Given the description of an element on the screen output the (x, y) to click on. 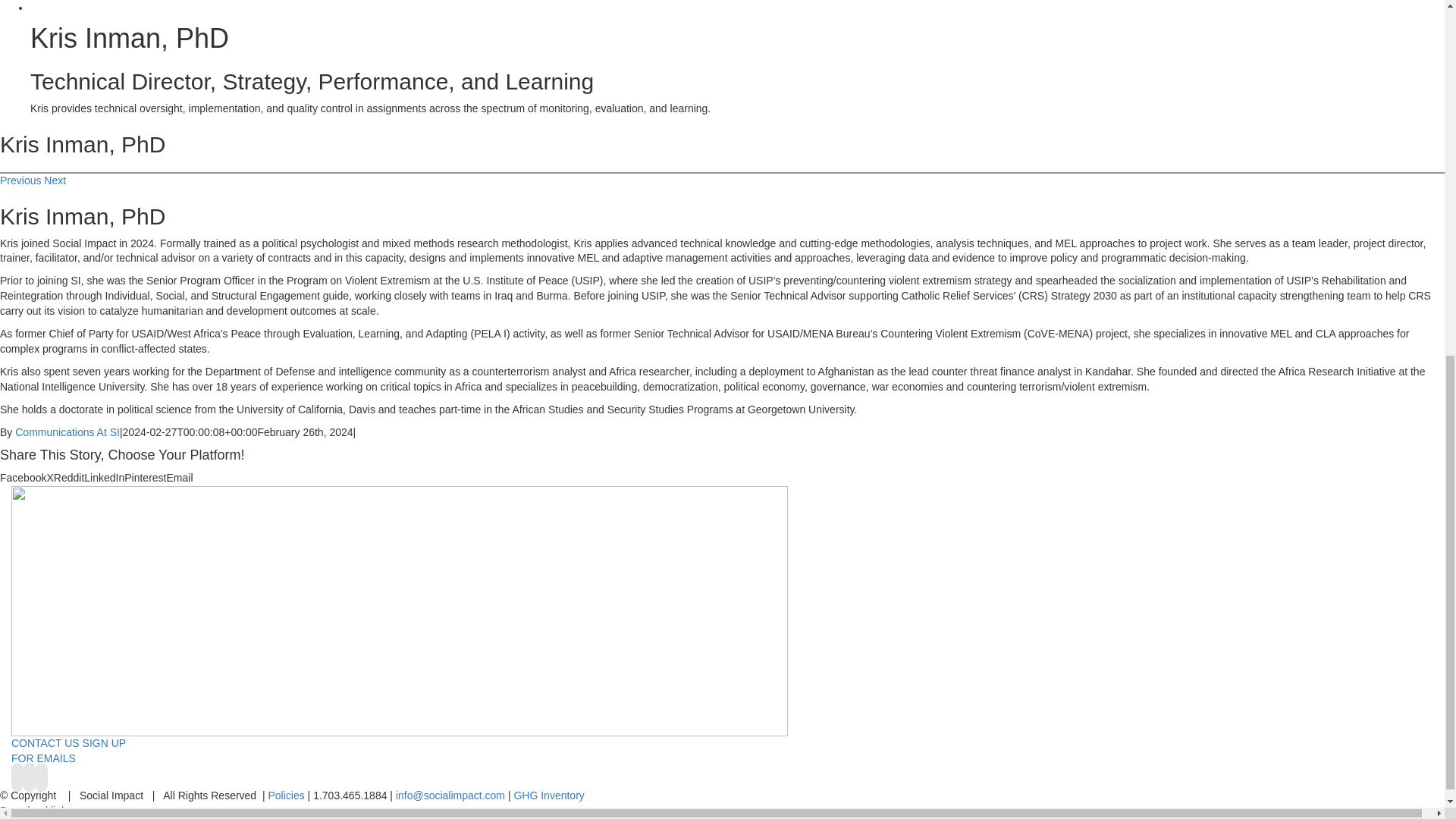
Reddit (68, 477)
Pinterest (144, 477)
Email (178, 477)
Posts by Communications At SI (66, 431)
Facebook (23, 477)
LinkedIn (103, 477)
